Given the description of an element on the screen output the (x, y) to click on. 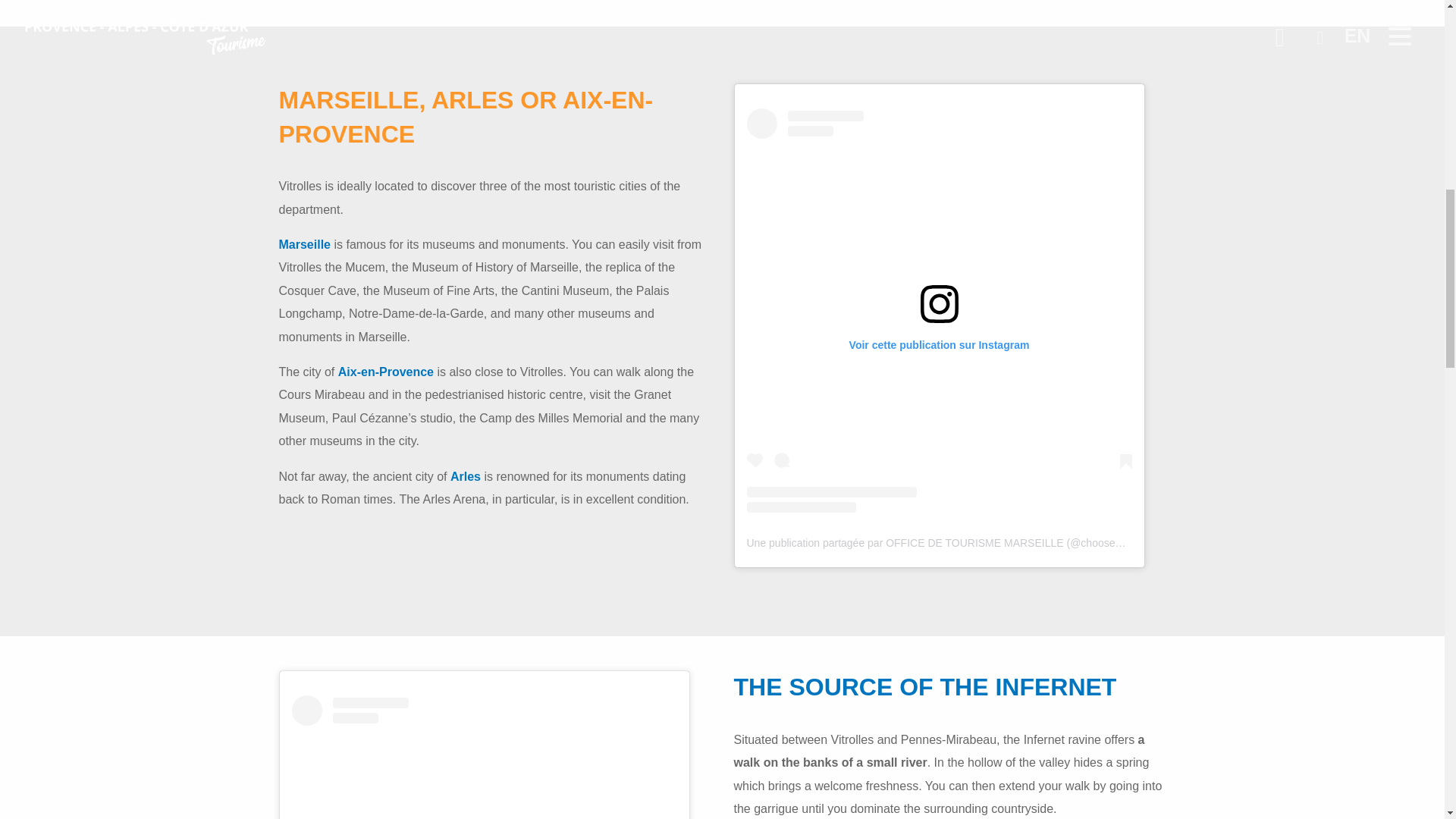
Voir cette publication sur Instagram (484, 757)
Arles (464, 476)
Aix-en-Provence (385, 371)
Marseille (304, 244)
